Given the description of an element on the screen output the (x, y) to click on. 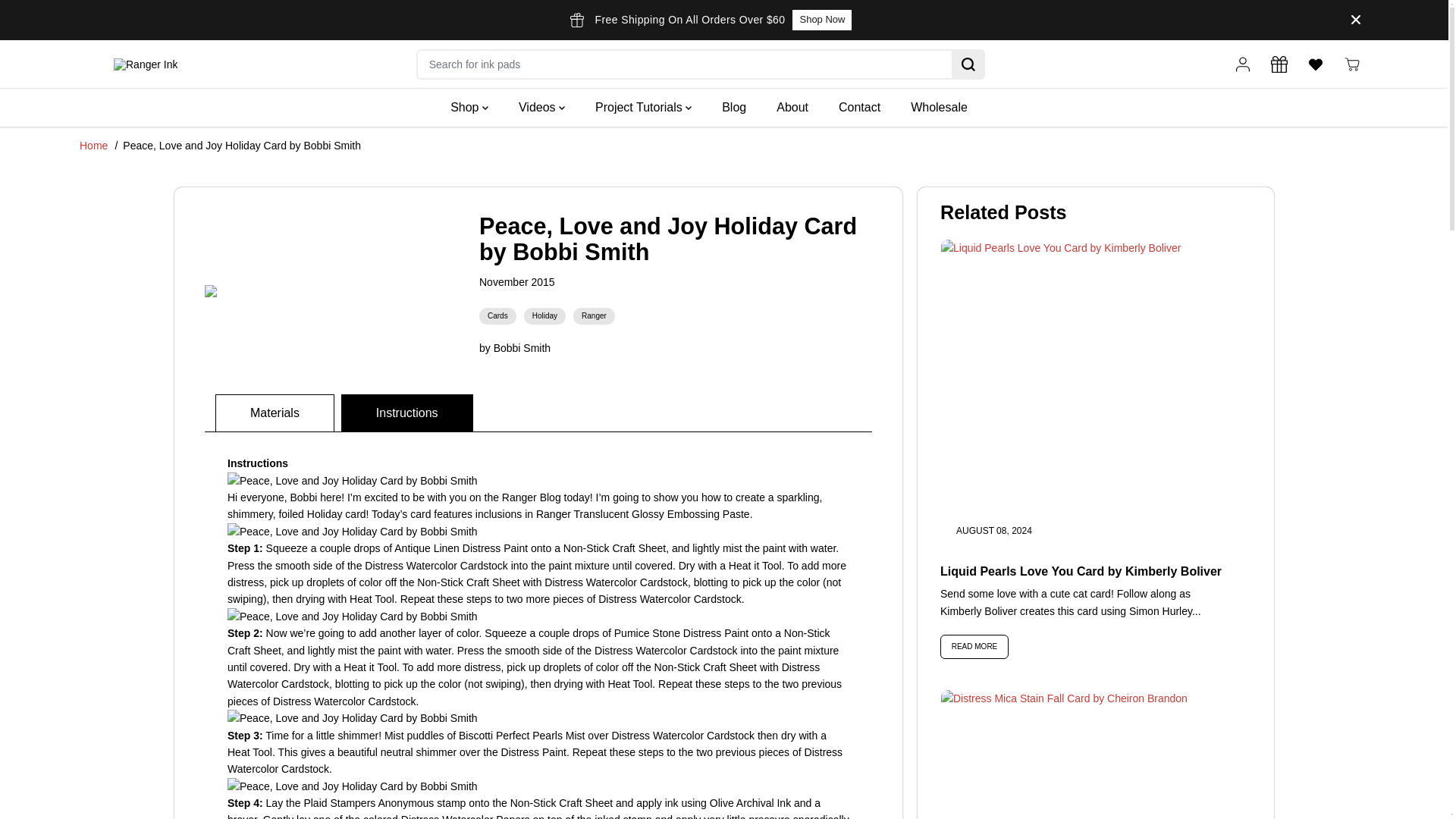
Cart (1351, 64)
Home (93, 144)
SKIP TO CONTENT (60, 18)
Log in (1242, 64)
